Given the description of an element on the screen output the (x, y) to click on. 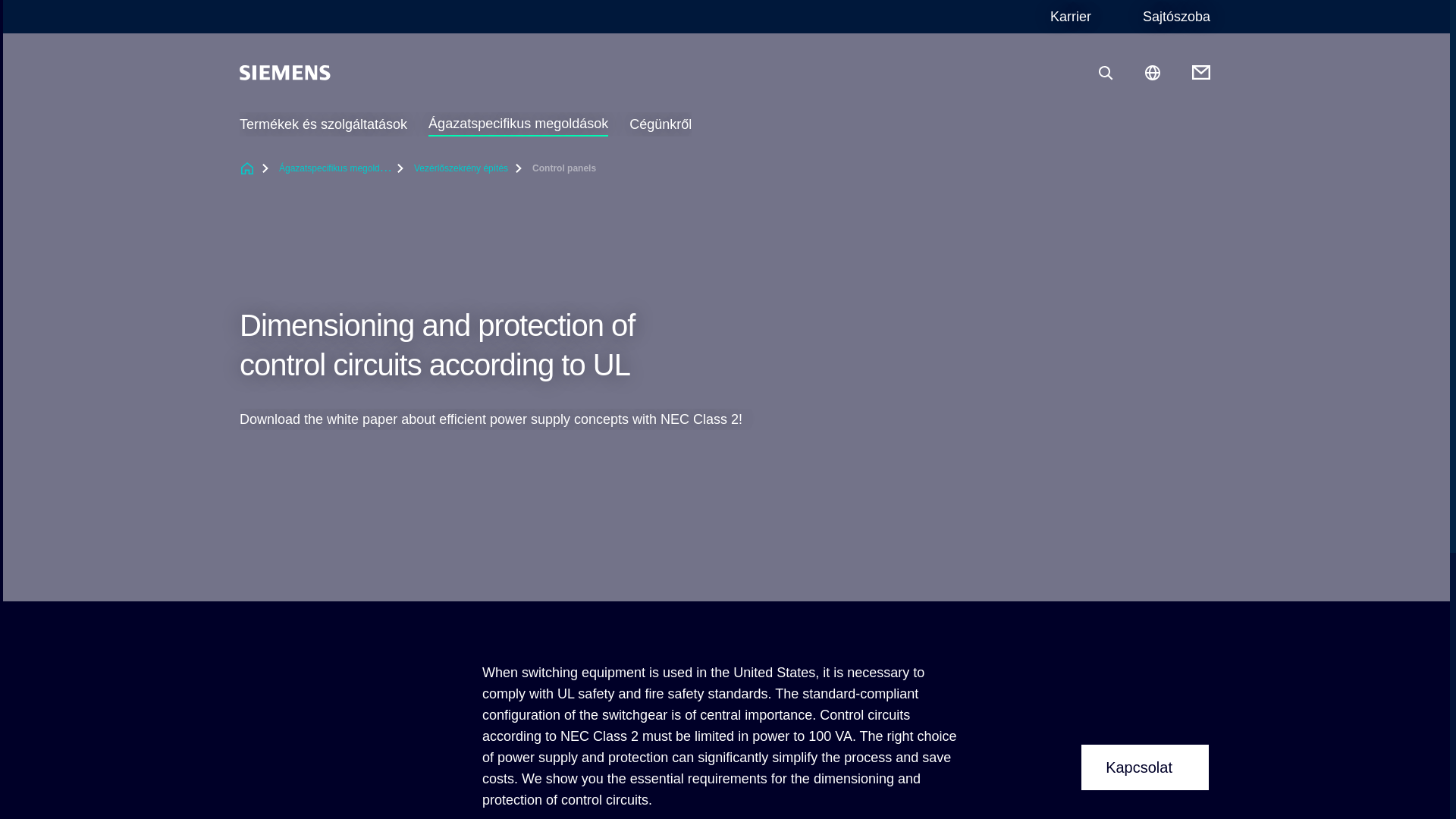
Karrier (1069, 16)
Kapcsolat (1144, 766)
search (1105, 72)
Siemens (285, 72)
